Given the description of an element on the screen output the (x, y) to click on. 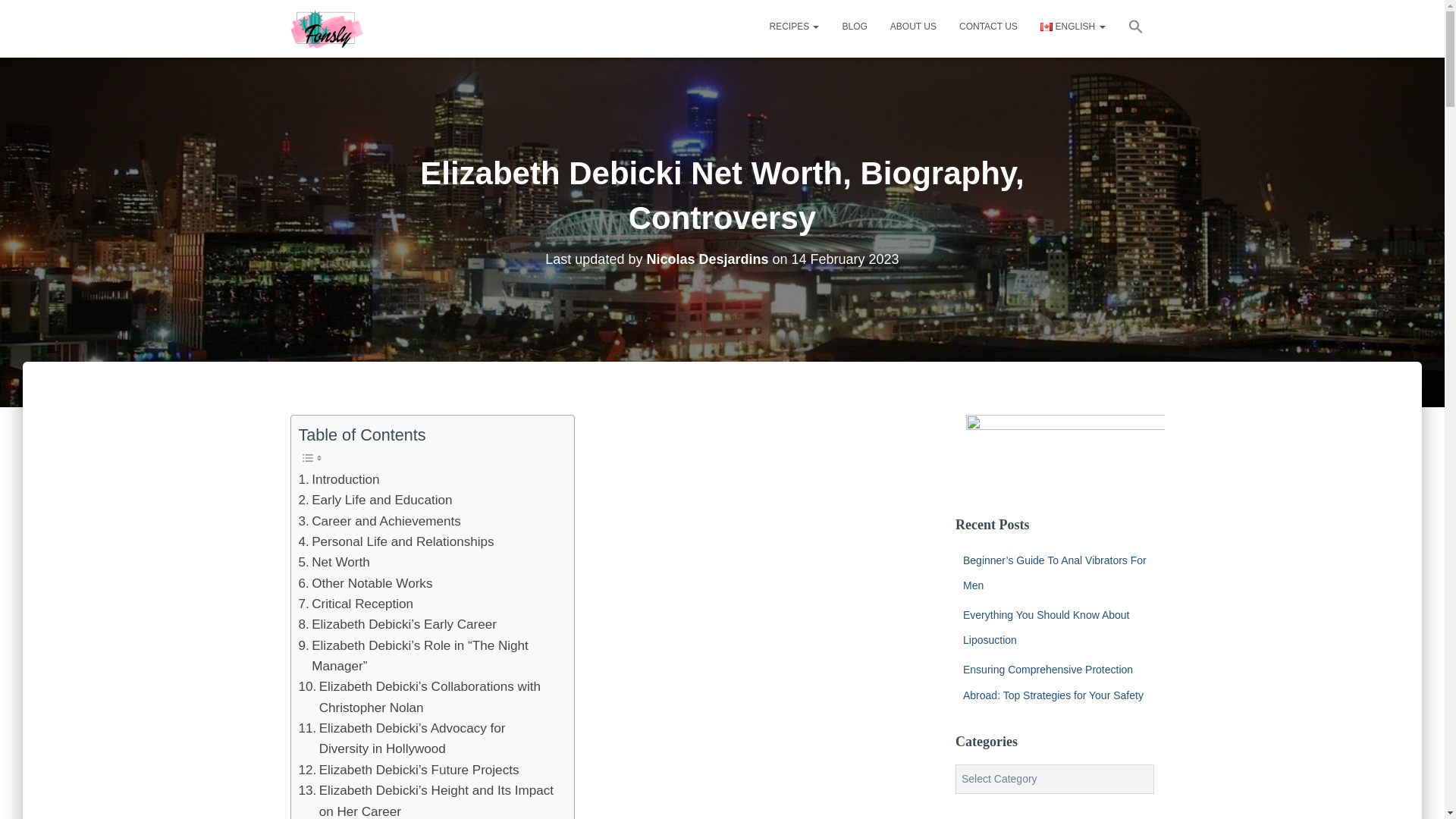
About Us (913, 26)
Personal Life and Relationships (396, 541)
Introduction (339, 479)
Other Notable Works (365, 583)
ABOUT US (913, 26)
BLOG (853, 26)
CONTACT US (988, 26)
Blog (853, 26)
Fonsly (326, 28)
Career and Achievements (379, 521)
